Given the description of an element on the screen output the (x, y) to click on. 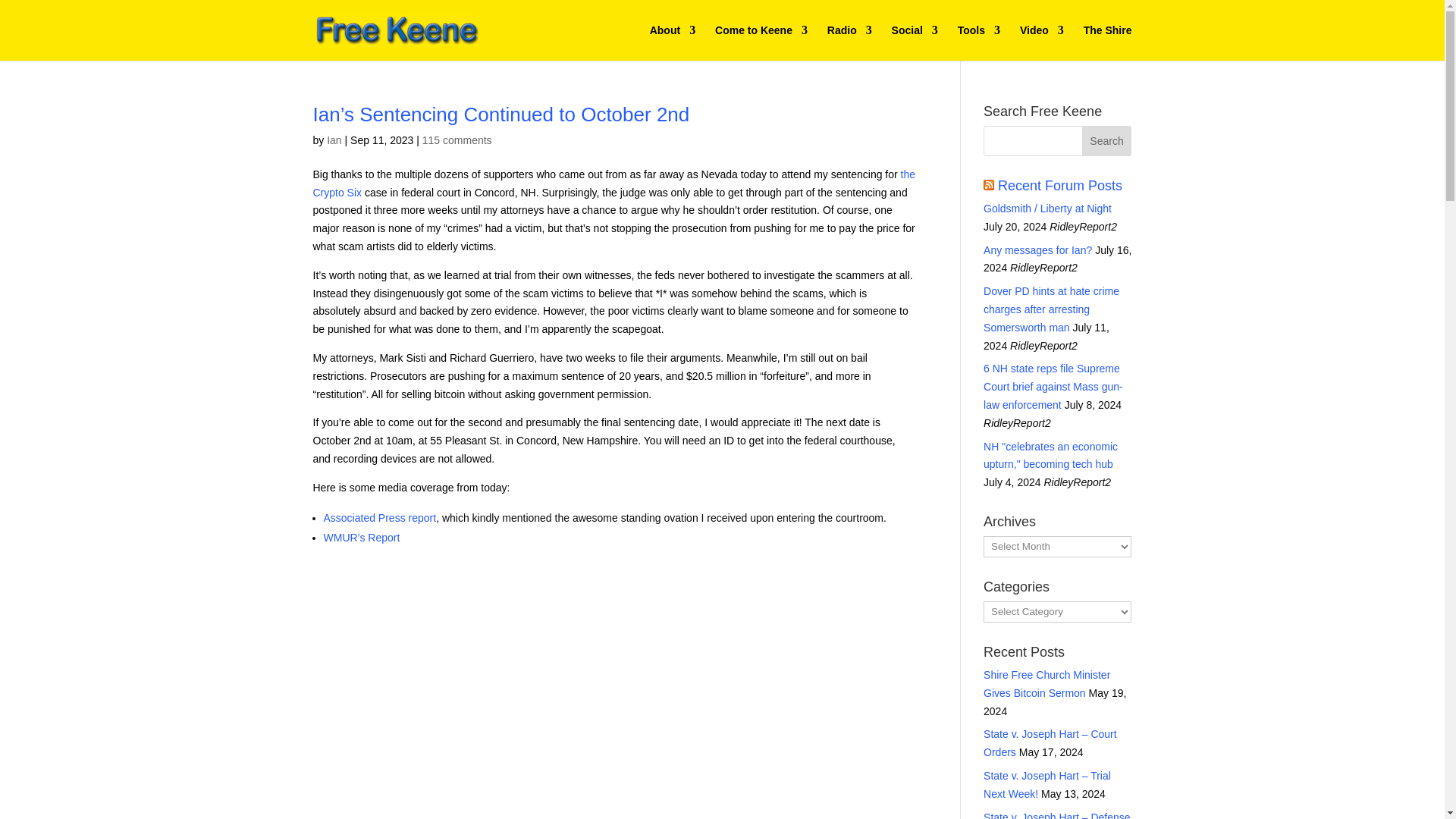
Tools (979, 42)
Posts by Ian (333, 140)
Come to Keene (761, 42)
Social (914, 42)
Radio (849, 42)
Search (1106, 141)
The Shire (1107, 42)
Video (1042, 42)
About (672, 42)
